Given the description of an element on the screen output the (x, y) to click on. 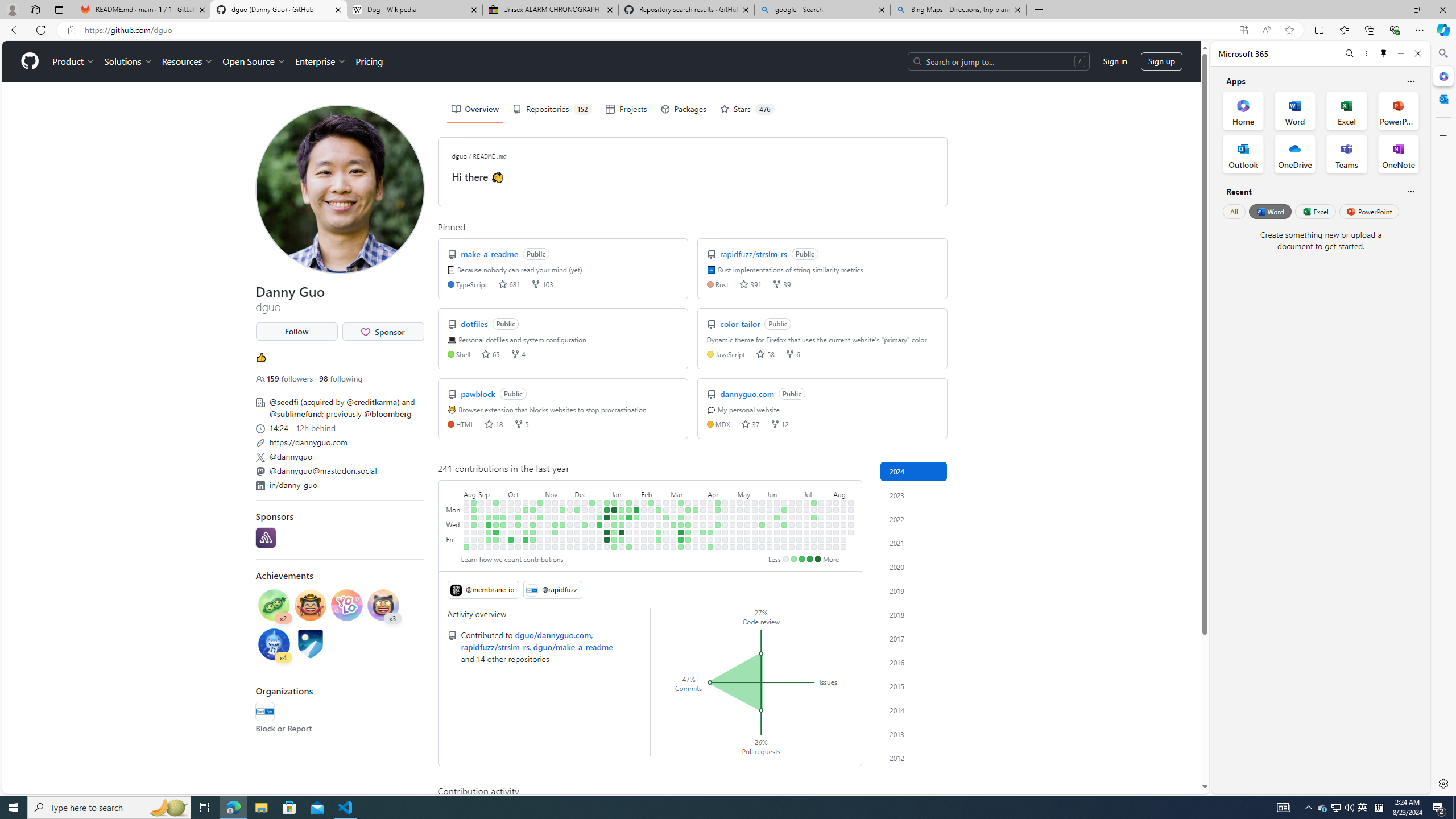
No contributions on October 13th. (518, 539)
No contributions on October 9th. (518, 509)
No contributions on December 3rd. (577, 502)
No contributions on November 21st. (562, 517)
stars 681 (508, 283)
No contributions on January 24th. (628, 524)
Excel Office App (1346, 110)
No contributions on August 14th. (843, 524)
No contributions on August 2nd. (828, 539)
No contributions on May 4th. (732, 546)
October (525, 492)
forks 103 (541, 283)
No contributions on August 18th. (850, 502)
No contributions on December 8th. (577, 539)
No contributions on May 28th. (761, 517)
